Given the description of an element on the screen output the (x, y) to click on. 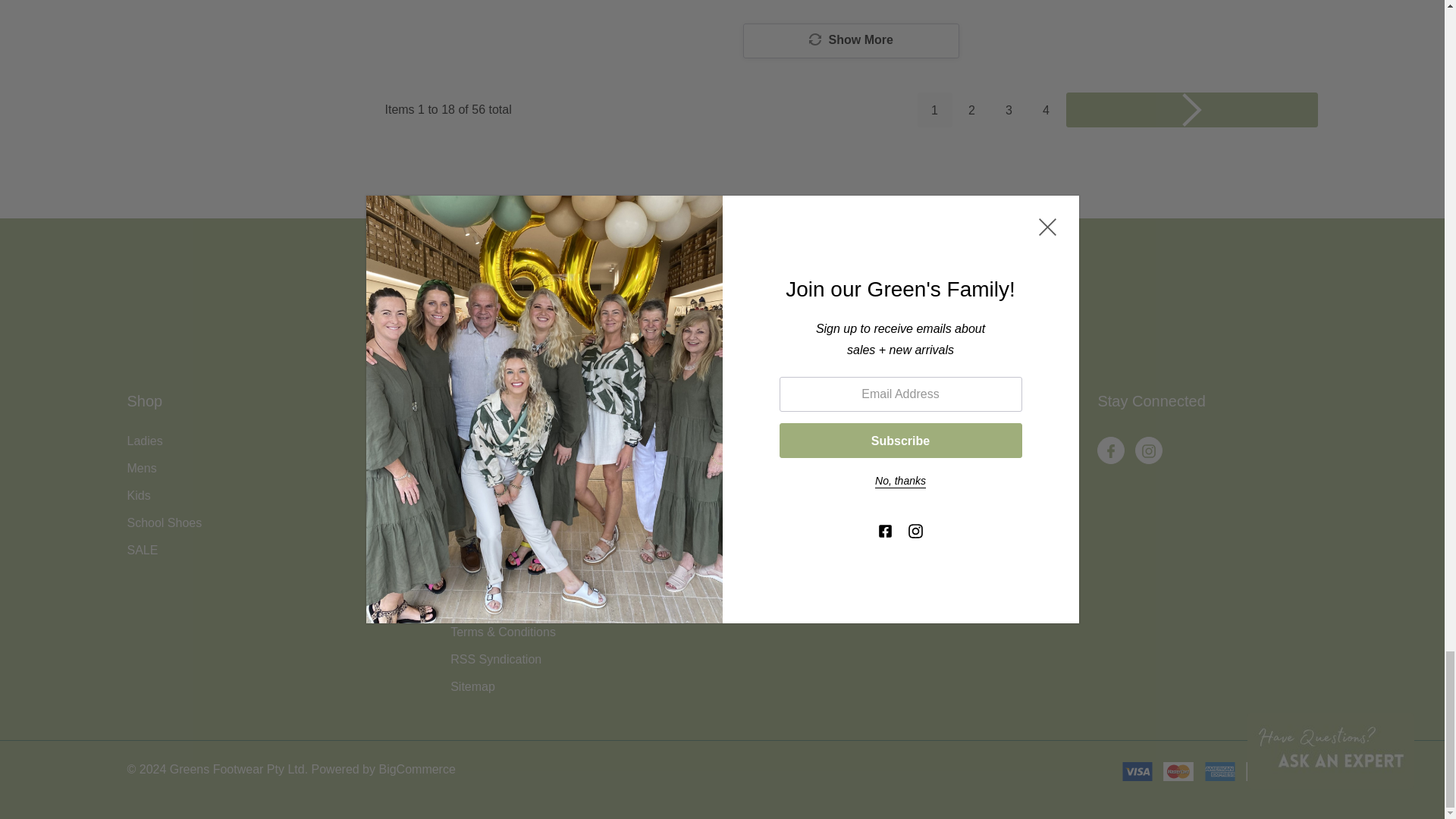
Submit (969, 329)
